Given the description of an element on the screen output the (x, y) to click on. 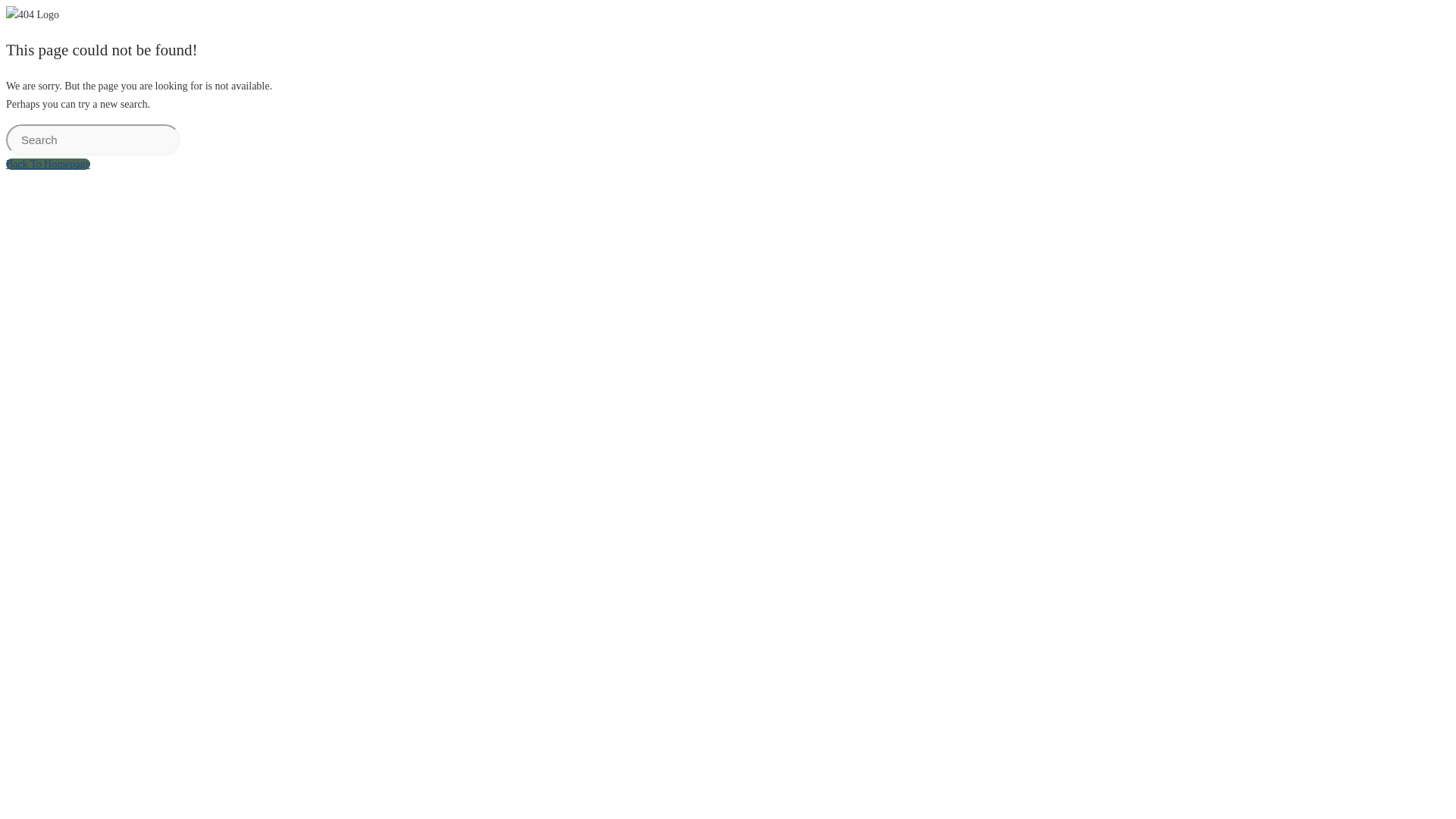
Skip to content Element type: text (5, 5)
Back To Homepage Element type: text (48, 163)
404 Logo Element type: hover (32, 15)
